Given the description of an element on the screen output the (x, y) to click on. 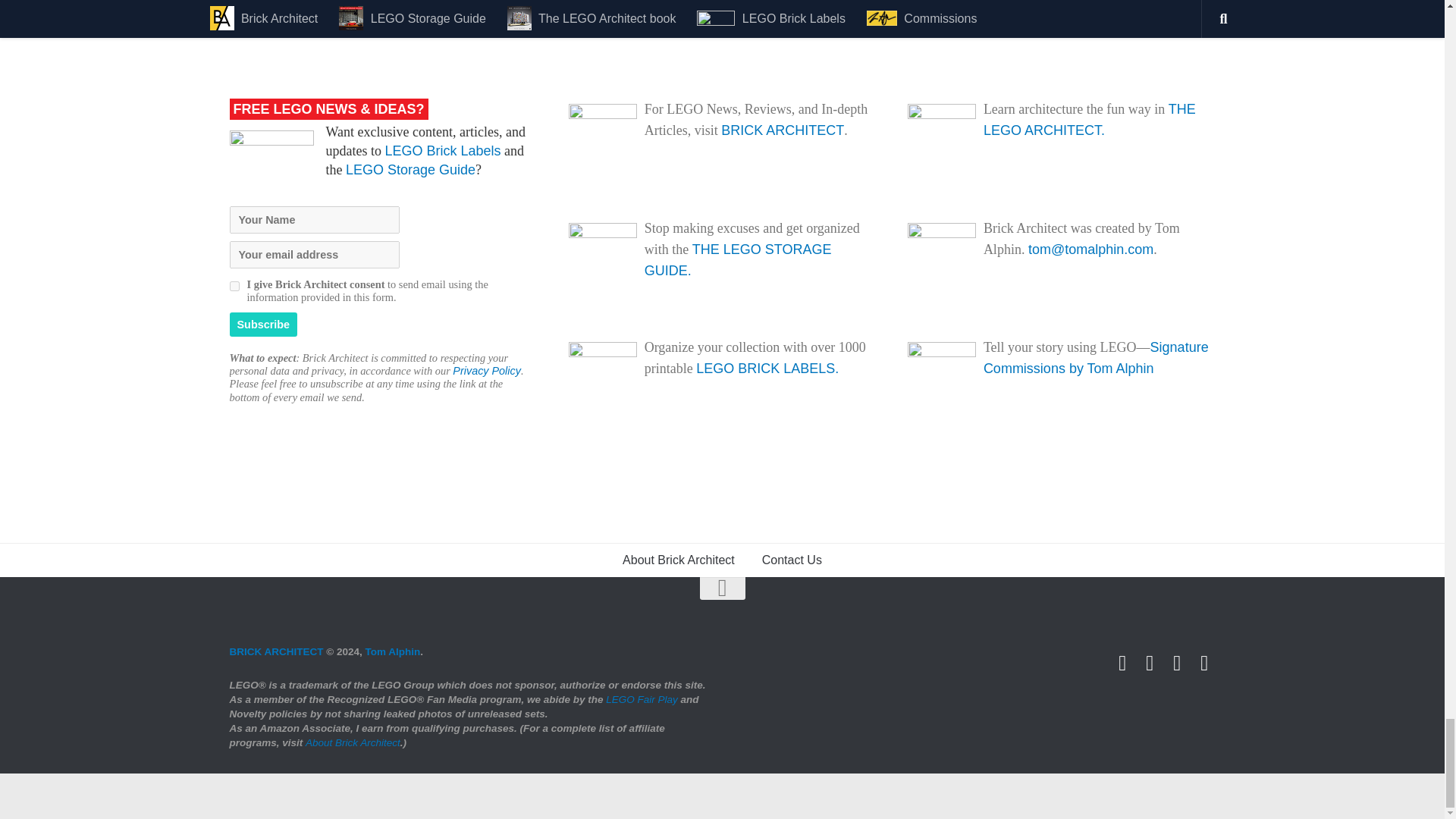
Subscribe (262, 324)
on (233, 286)
Facebook (1149, 663)
Follow us on Pinterest (1203, 663)
Follow us on Twitter-square (1122, 663)
Instagram (1177, 663)
